Given the description of an element on the screen output the (x, y) to click on. 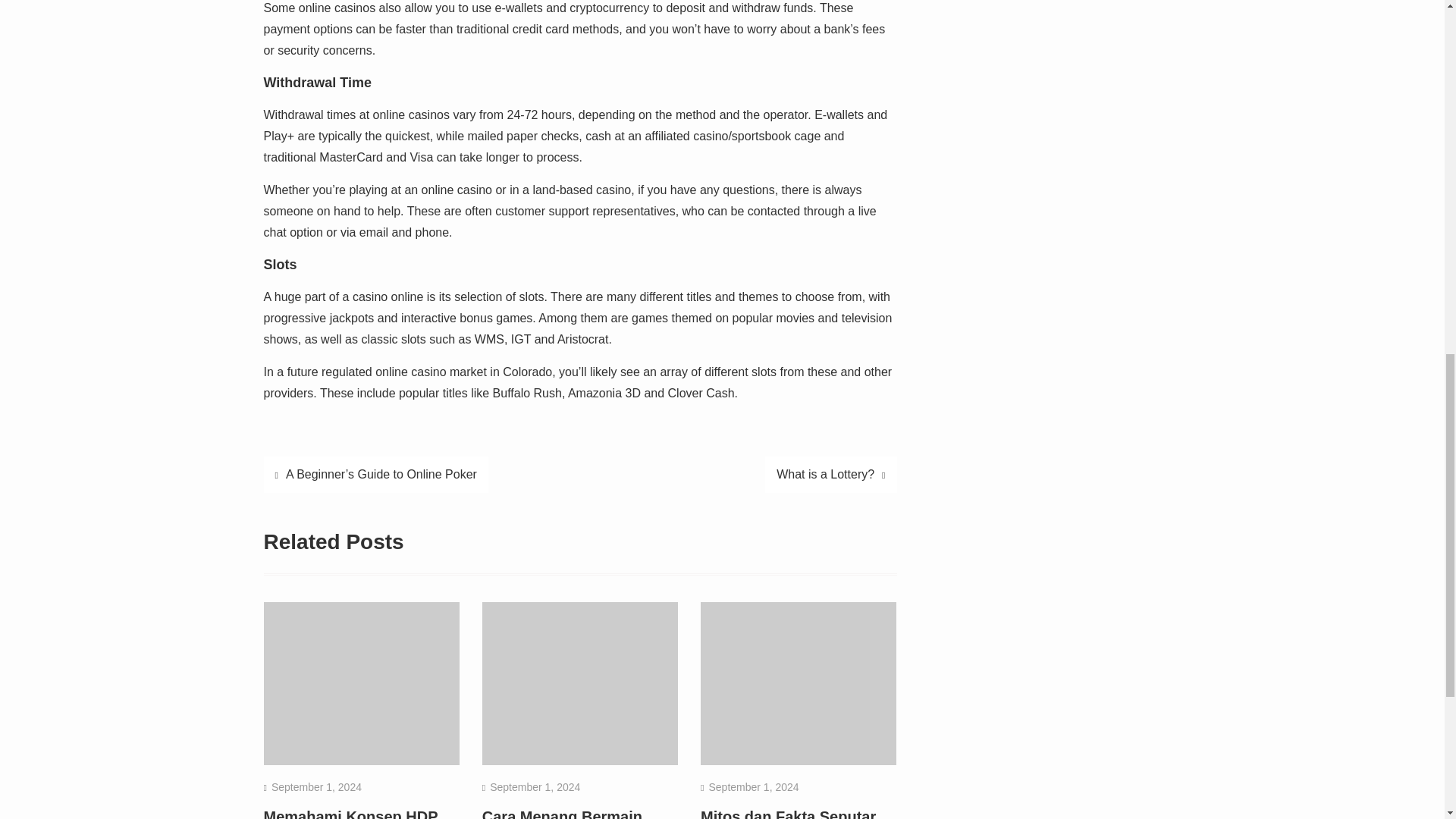
Memahami Konsep HDP dalam Taruhan Bola: Tips dan Trik (355, 813)
Cara Menang Bermain Sicbo Online di Situs Judi Terpercaya (575, 813)
What is a Lottery? (830, 474)
